Given the description of an element on the screen output the (x, y) to click on. 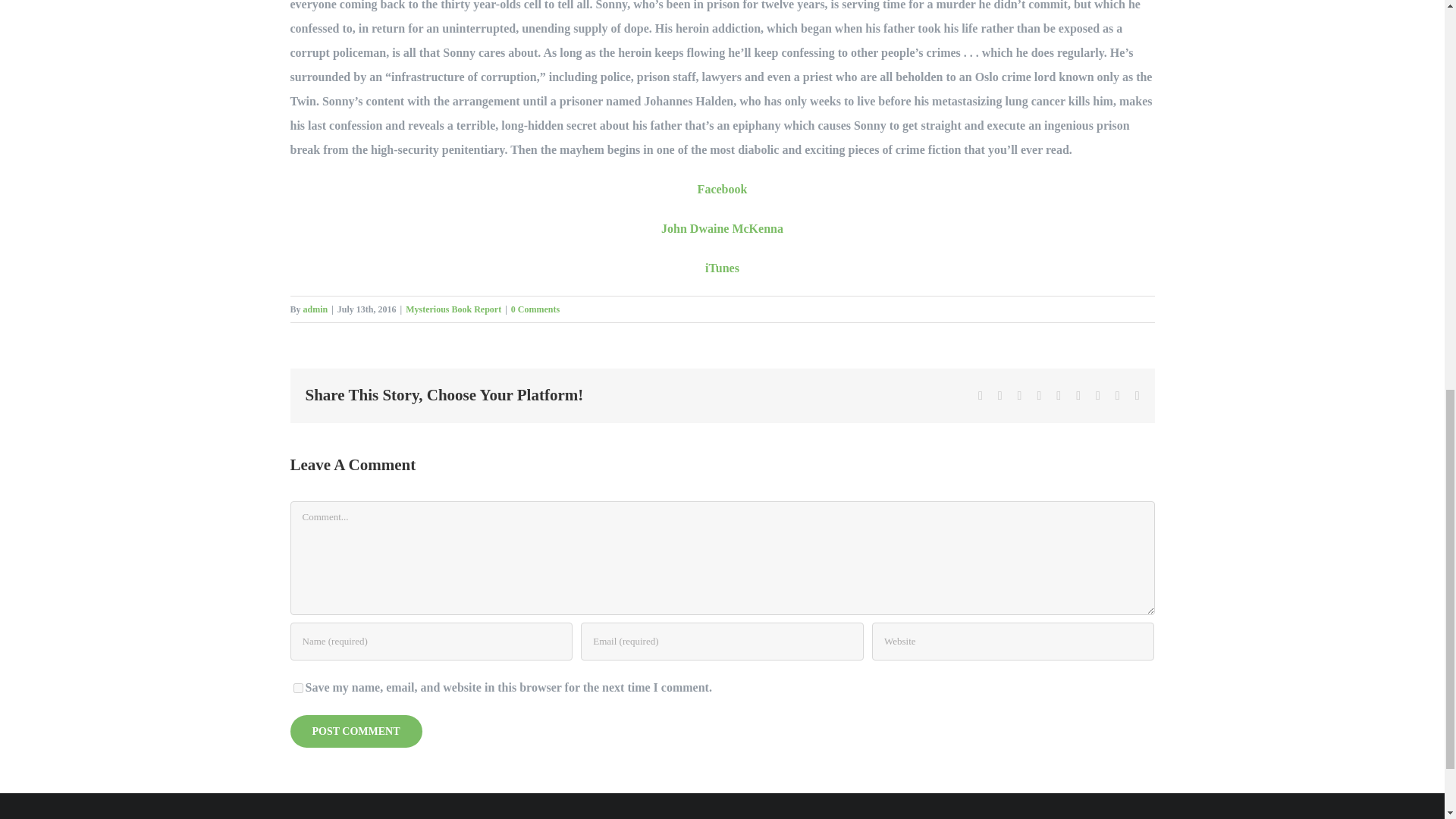
Post Comment (355, 730)
0 Comments (535, 308)
Mysterious Book Report (453, 308)
admin (315, 308)
Facebook (722, 188)
iTunes (721, 267)
yes (297, 687)
John Dwaine McKenna (722, 228)
Posts by admin (315, 308)
